Given the description of an element on the screen output the (x, y) to click on. 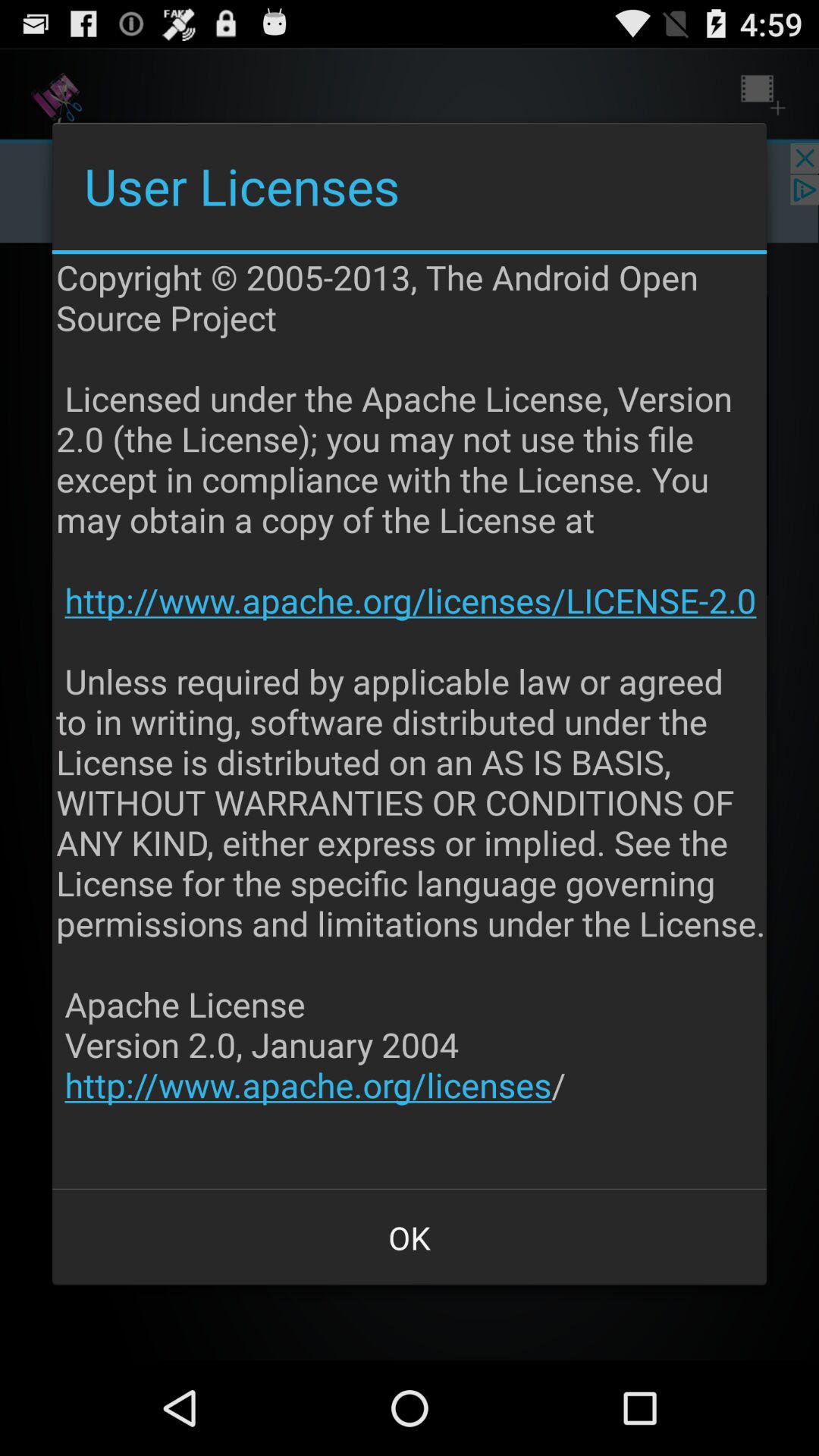
flip to the copyright 2005 2013 app (411, 721)
